Given the description of an element on the screen output the (x, y) to click on. 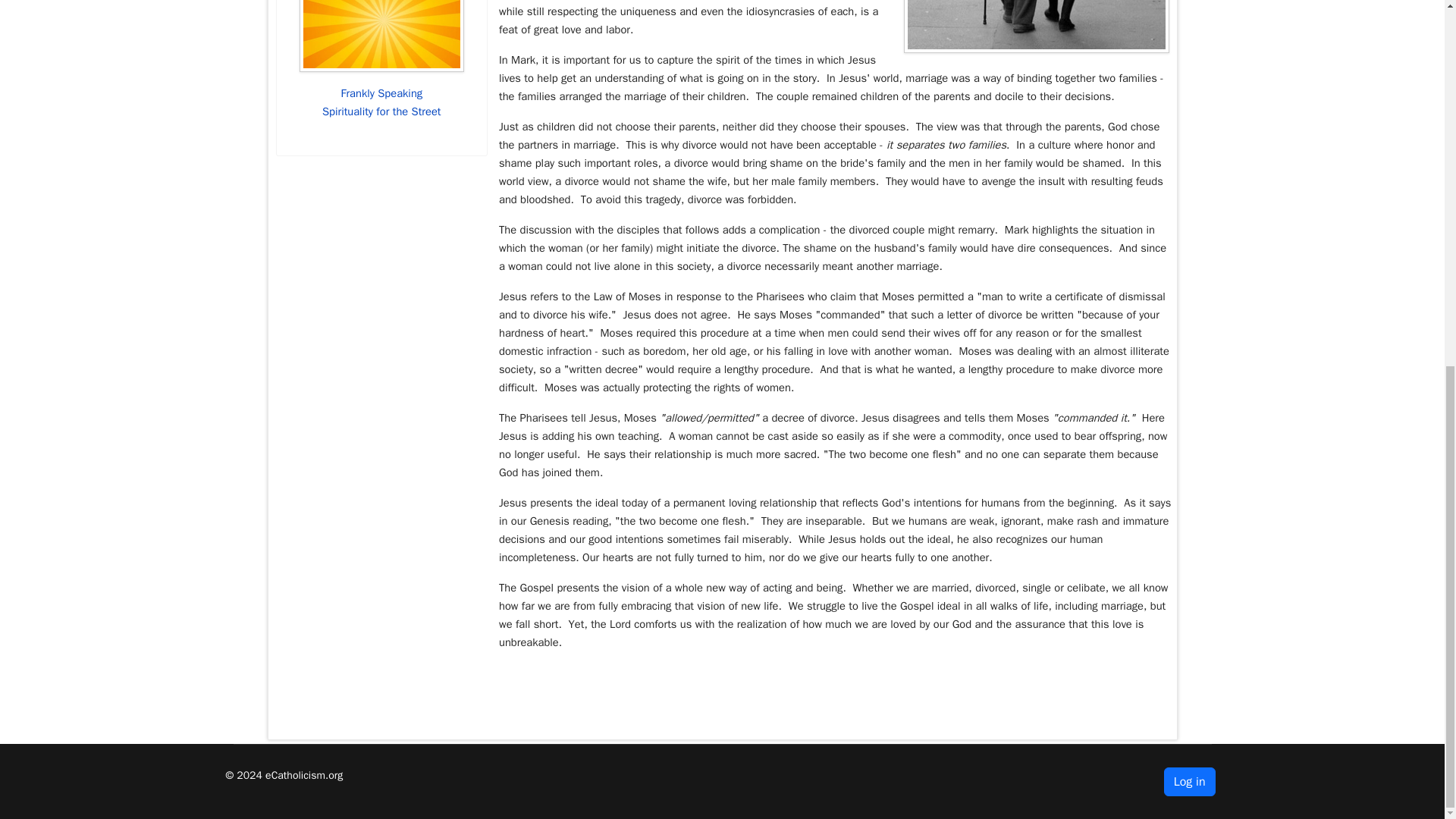
Frankly Speaking (381, 92)
Spirituality for the Street (381, 111)
Log in (1189, 781)
